Given the description of an element on the screen output the (x, y) to click on. 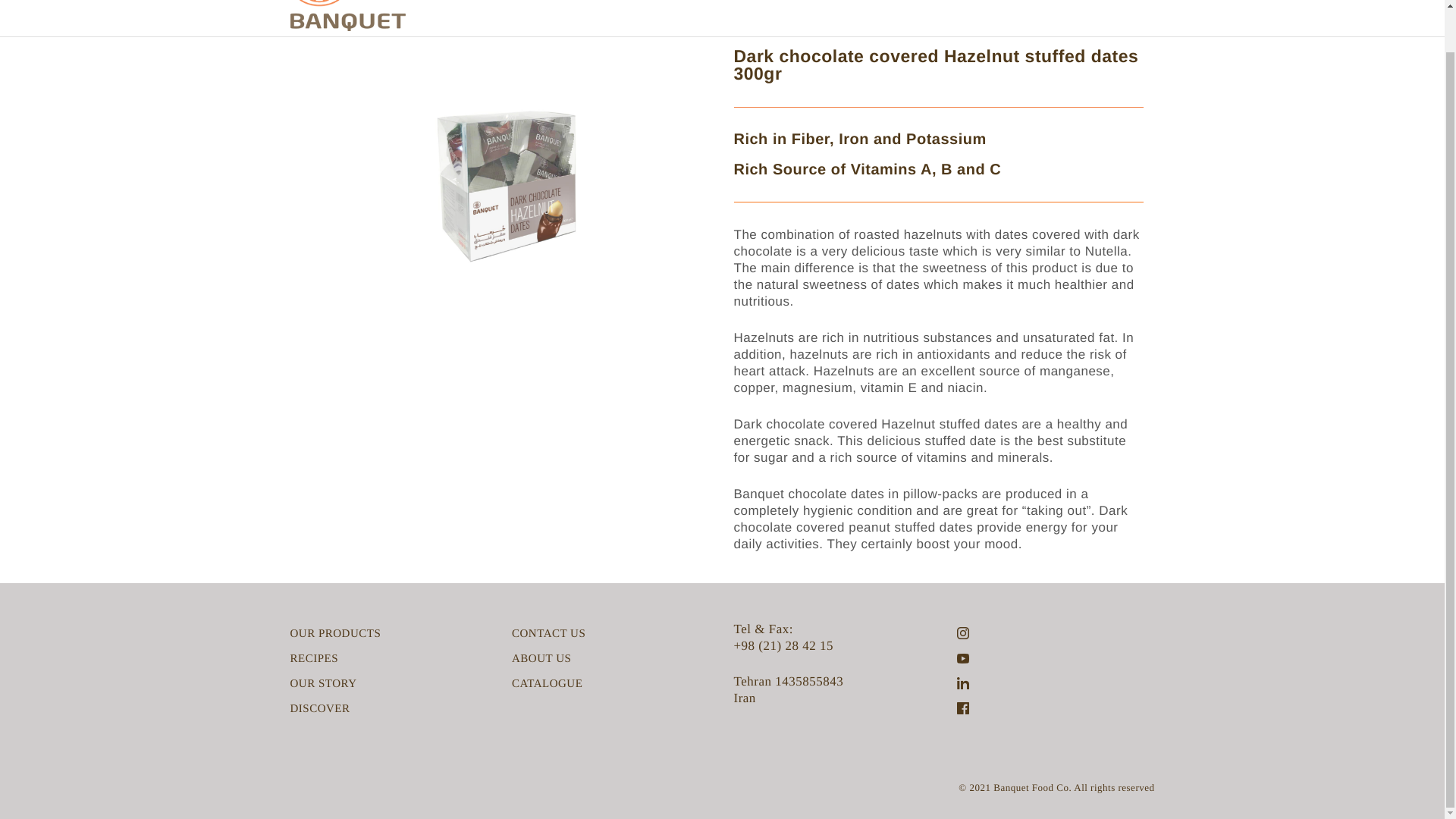
RECIPES (313, 658)
OUR STORY (322, 683)
OUR PRODUCTS (334, 633)
DISCOVER (319, 709)
CATALOGUE (547, 683)
ABOUT US (541, 658)
CONTACT US (548, 633)
